Given the description of an element on the screen output the (x, y) to click on. 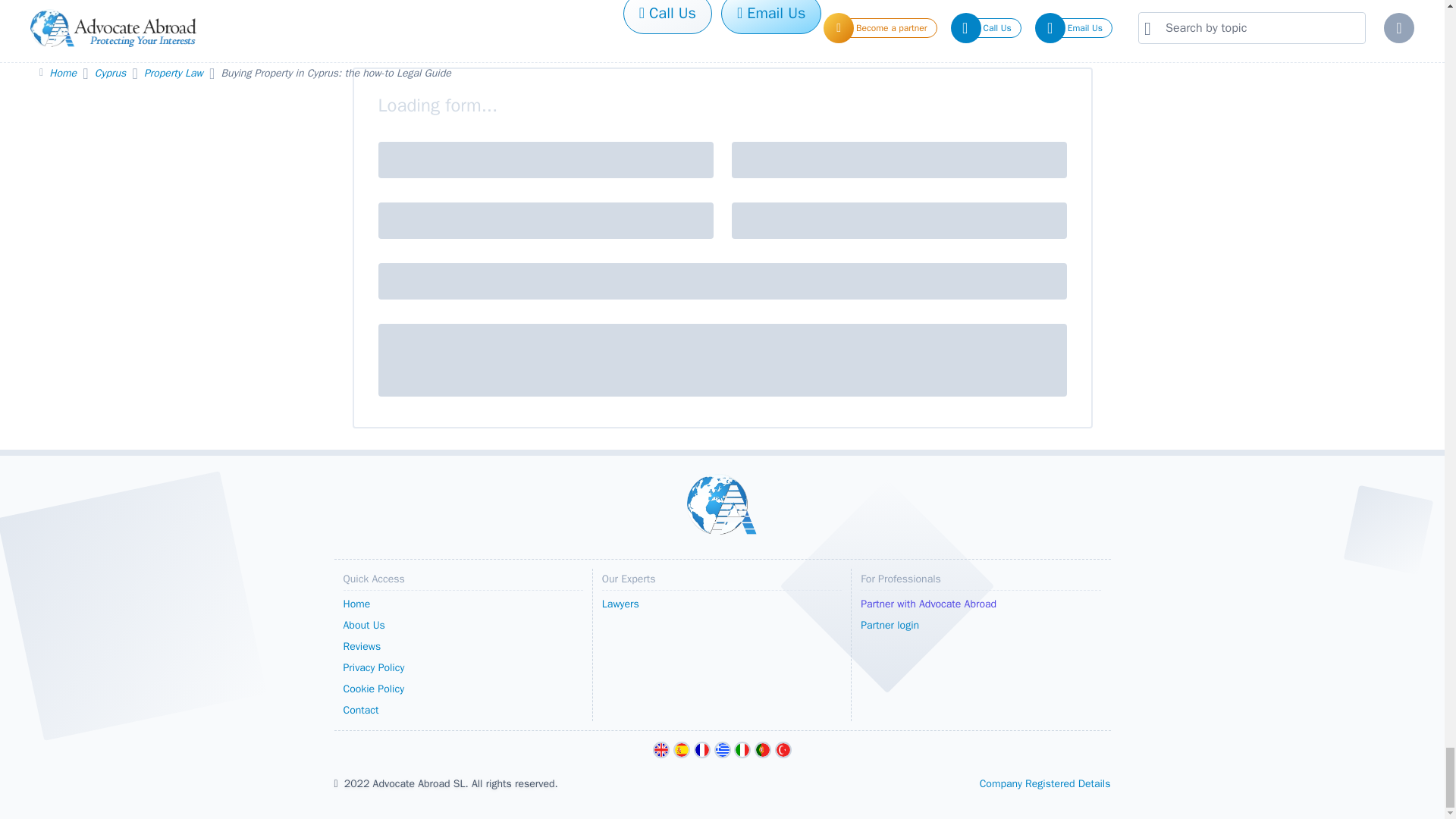
Spanish (681, 750)
Greek (722, 750)
French (702, 750)
Lawyers in Cyprus (721, 604)
About Us (462, 625)
Home (462, 604)
Italian (742, 750)
English (660, 750)
Turkish (783, 750)
Portuguese (762, 750)
